Given the description of an element on the screen output the (x, y) to click on. 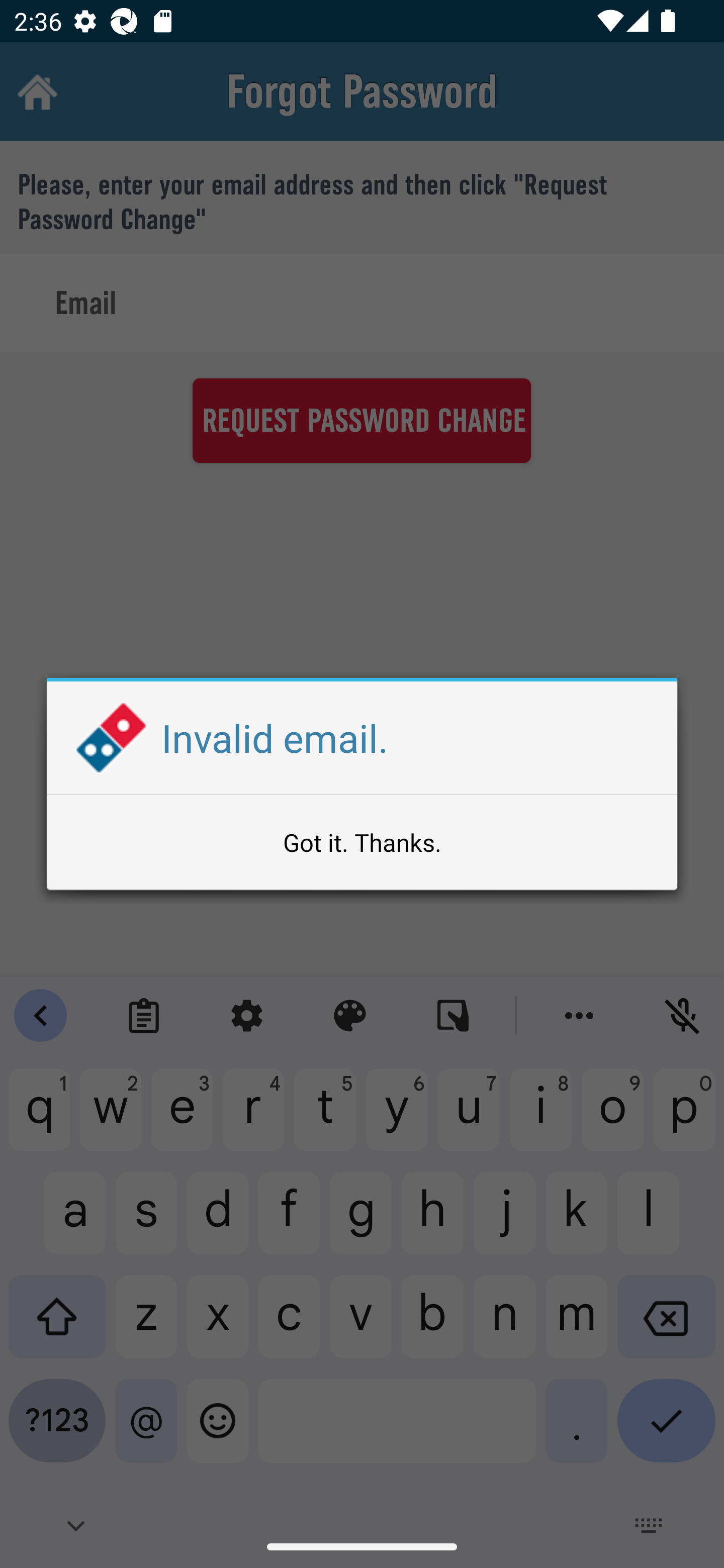
Got it. Thanks. (361, 842)
